Given the description of an element on the screen output the (x, y) to click on. 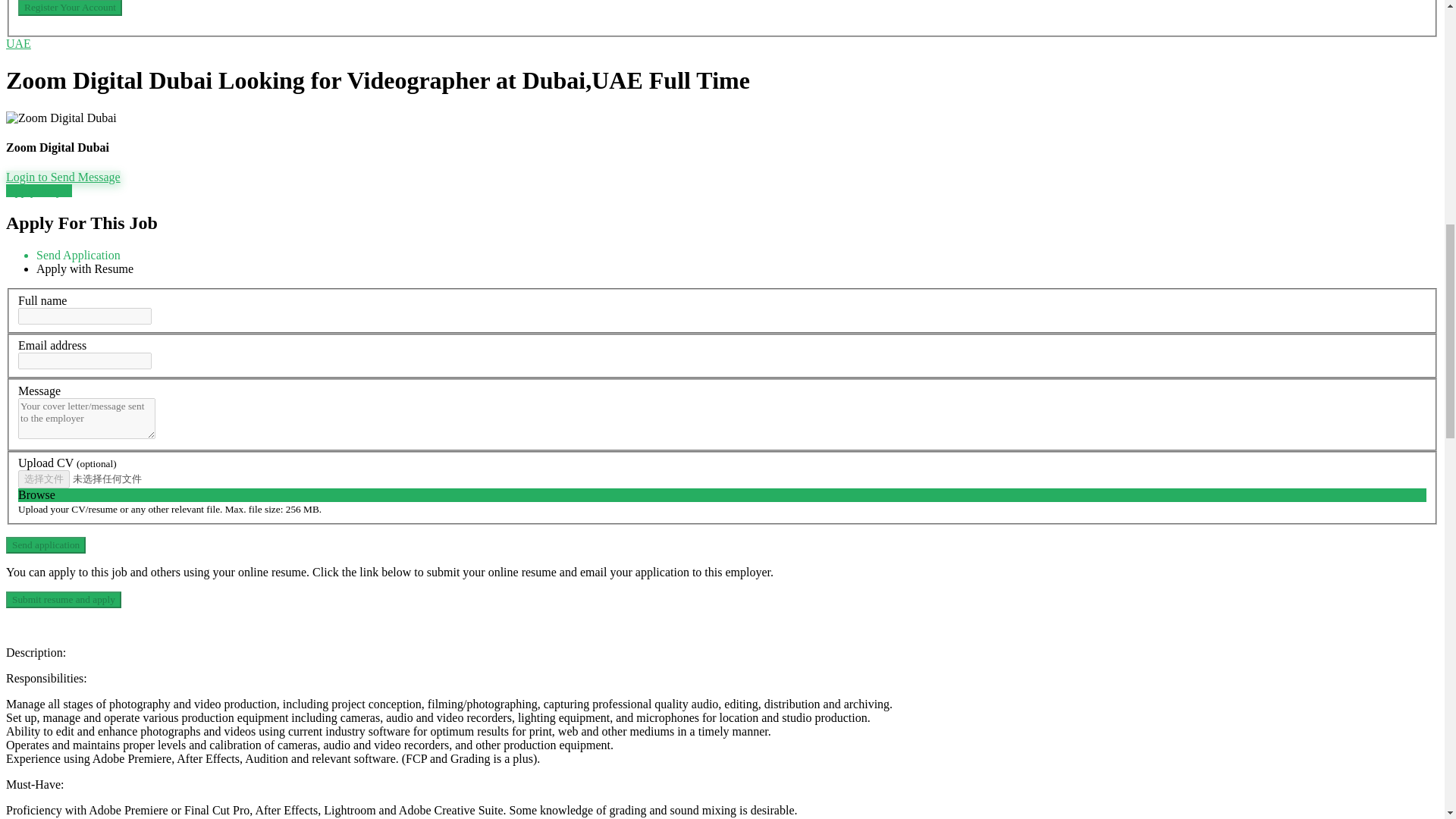
UAE (17, 42)
Submit resume and apply (62, 599)
Login to Send Message (62, 176)
Send application (45, 545)
Send application (45, 545)
Register Your Account (69, 7)
Apply for job (38, 190)
Submit resume and apply (62, 599)
Register Your Account (69, 7)
